Given the description of an element on the screen output the (x, y) to click on. 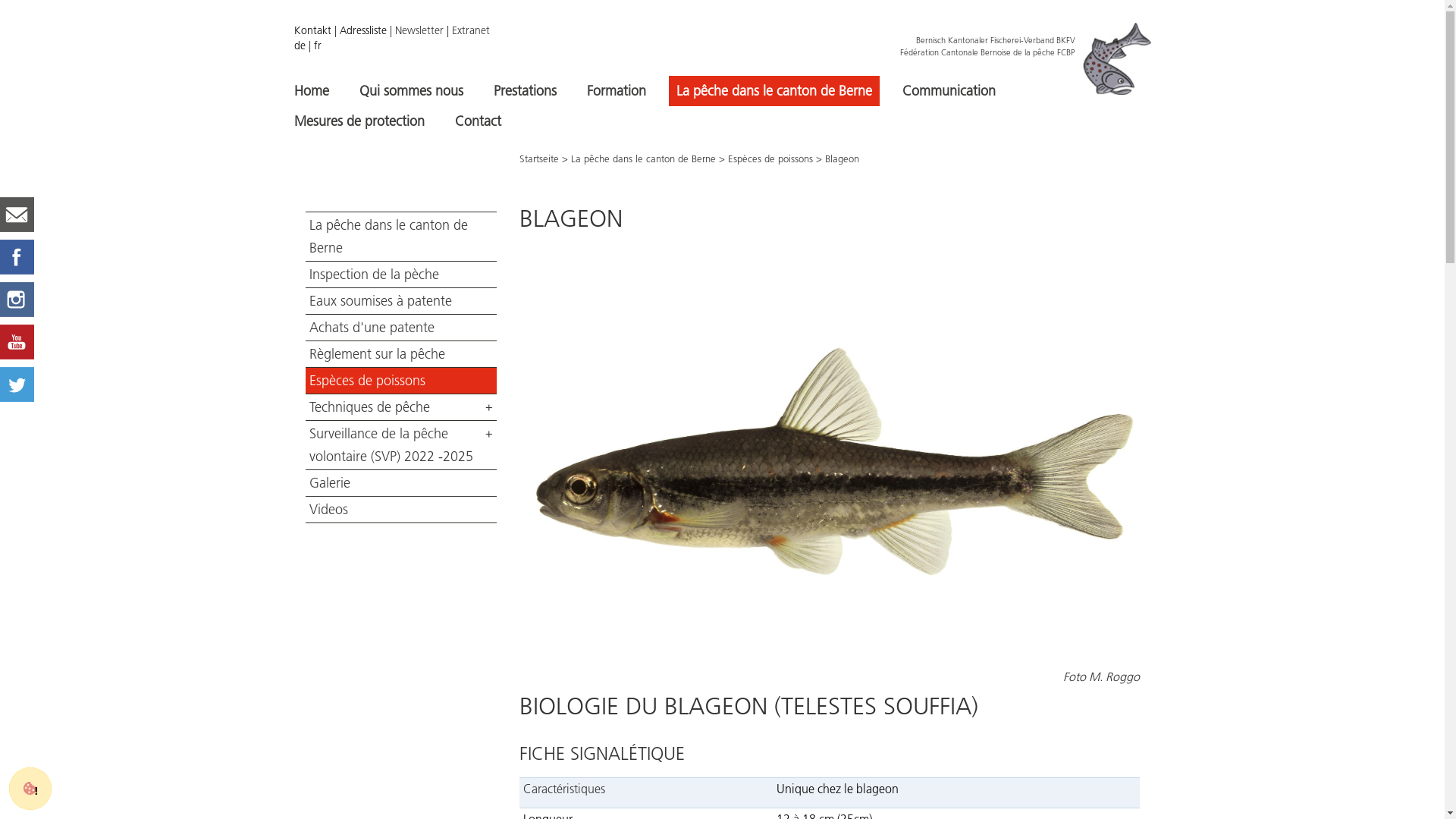
Prestations Element type: text (524, 90)
Videos Element type: text (400, 509)
Startseite Element type: text (538, 158)
Communication Element type: text (948, 90)
Home Element type: text (311, 90)
Mesures de protection Element type: text (359, 121)
Kontakt Element type: text (312, 30)
Achats d'une patente Element type: text (400, 327)
Qui sommes nous Element type: text (410, 90)
Galerie Element type: text (400, 482)
Formation Element type: text (616, 90)
de Element type: text (299, 45)
fr Element type: text (317, 45)
Adressliste Element type: text (362, 30)
Contact Element type: text (477, 121)
